Given the description of an element on the screen output the (x, y) to click on. 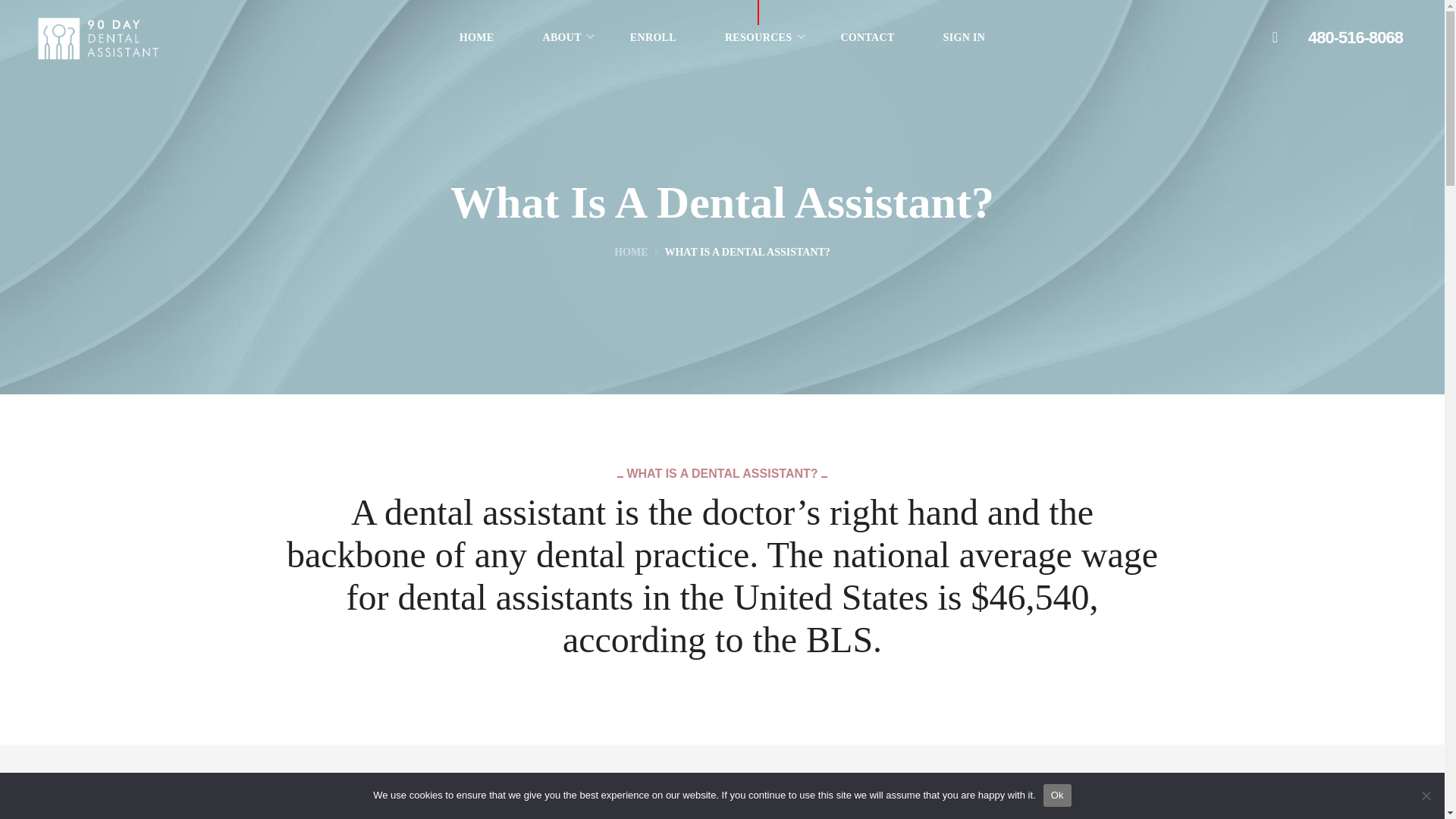
ENROLL (652, 38)
ABOUT (561, 38)
SIGN IN (964, 38)
No (1425, 795)
Search (1064, 441)
RESOURCES (757, 38)
480-516-8068 (1355, 37)
CONTACT (866, 38)
HOME (476, 38)
